Given the description of an element on the screen output the (x, y) to click on. 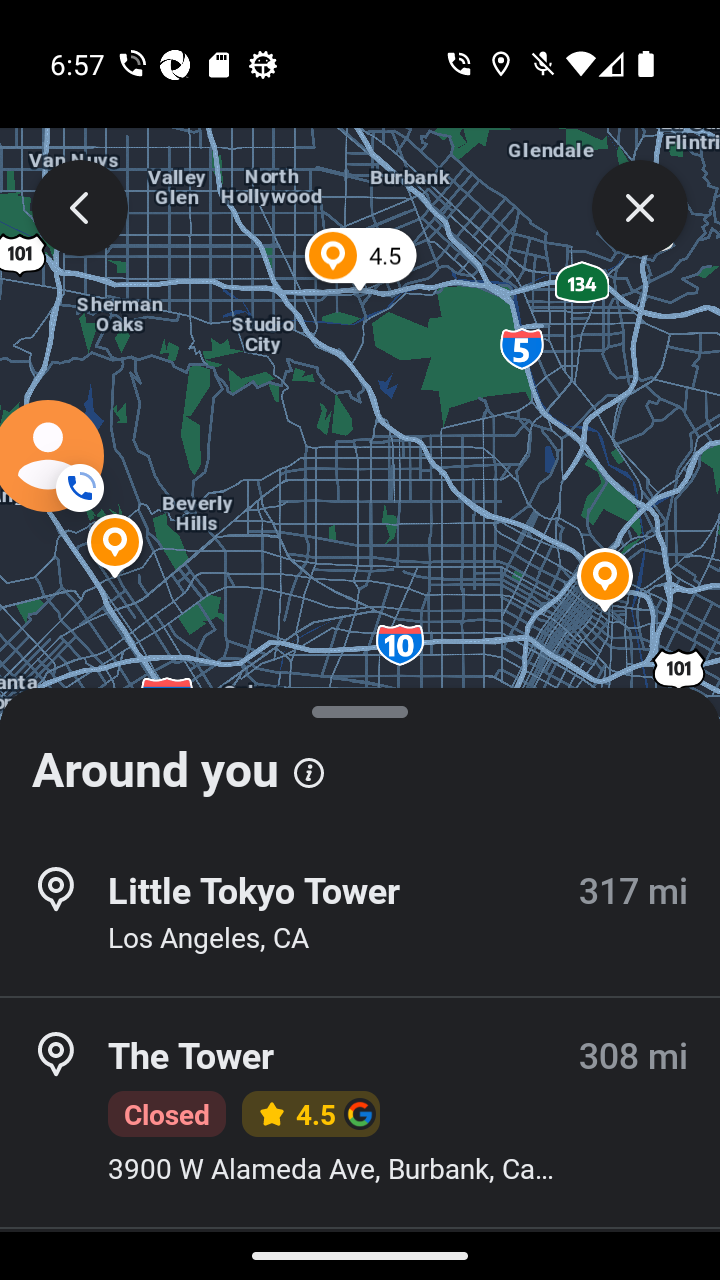
Around you (360, 760)
Little Tokyo Tower 317 mi Los Angeles, CA (360, 914)
The Tower 309 mi (360, 1254)
